Given the description of an element on the screen output the (x, y) to click on. 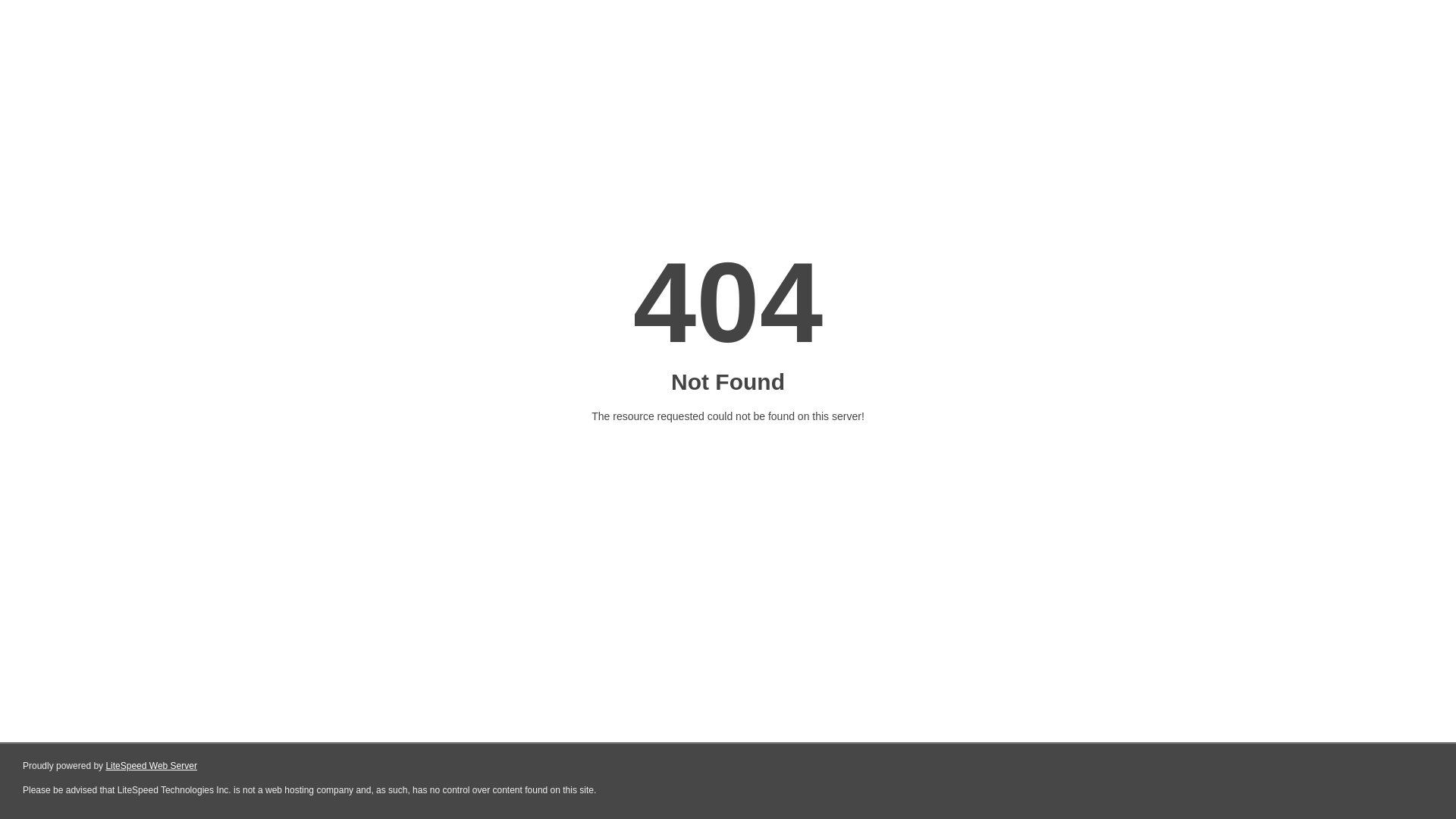
LiteSpeed Web Server Element type: text (151, 765)
